Given the description of an element on the screen output the (x, y) to click on. 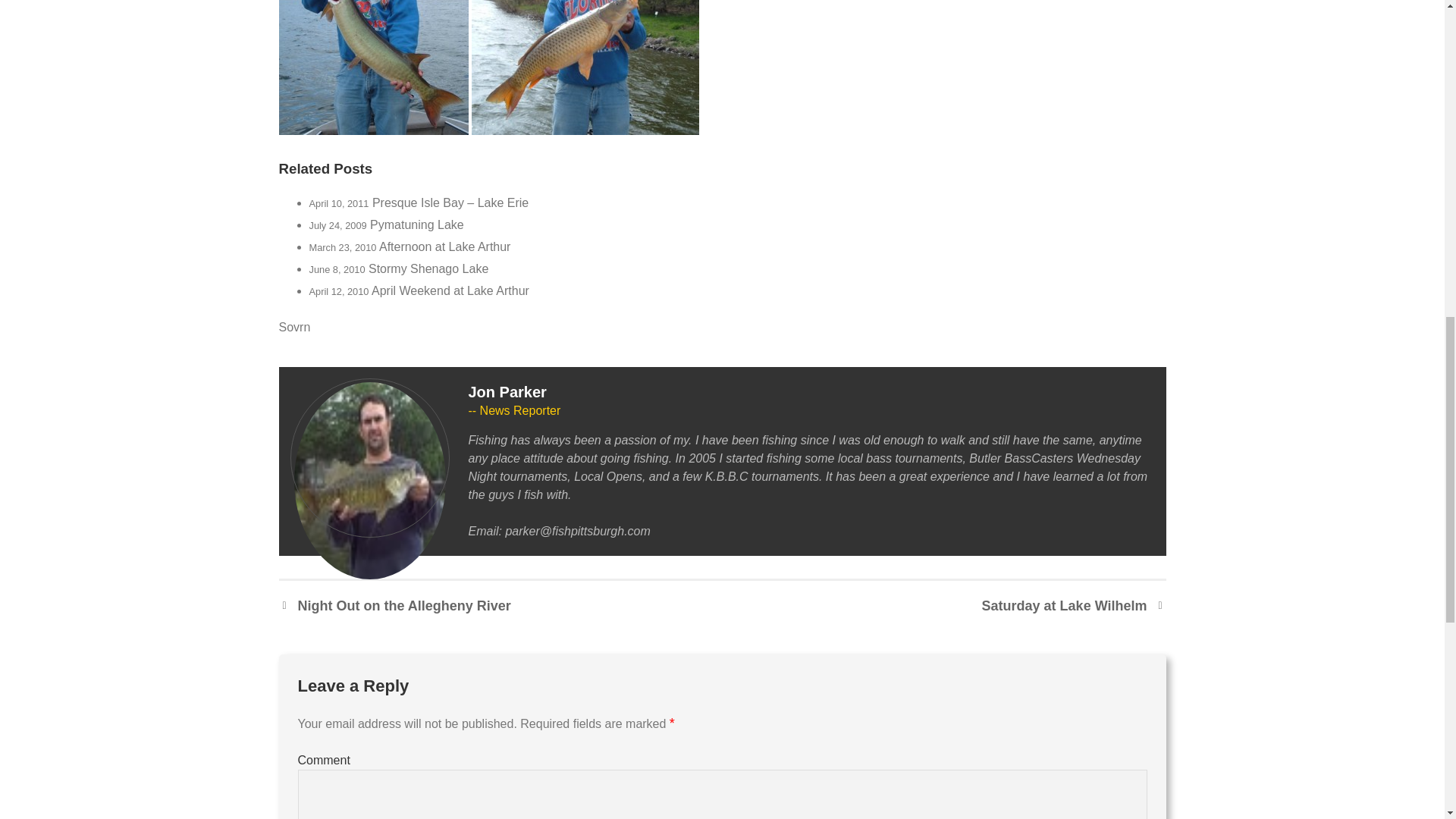
Posts by Jon Parker (507, 392)
muskie-0402 (373, 67)
carp-0402 (584, 67)
